Given the description of an element on the screen output the (x, y) to click on. 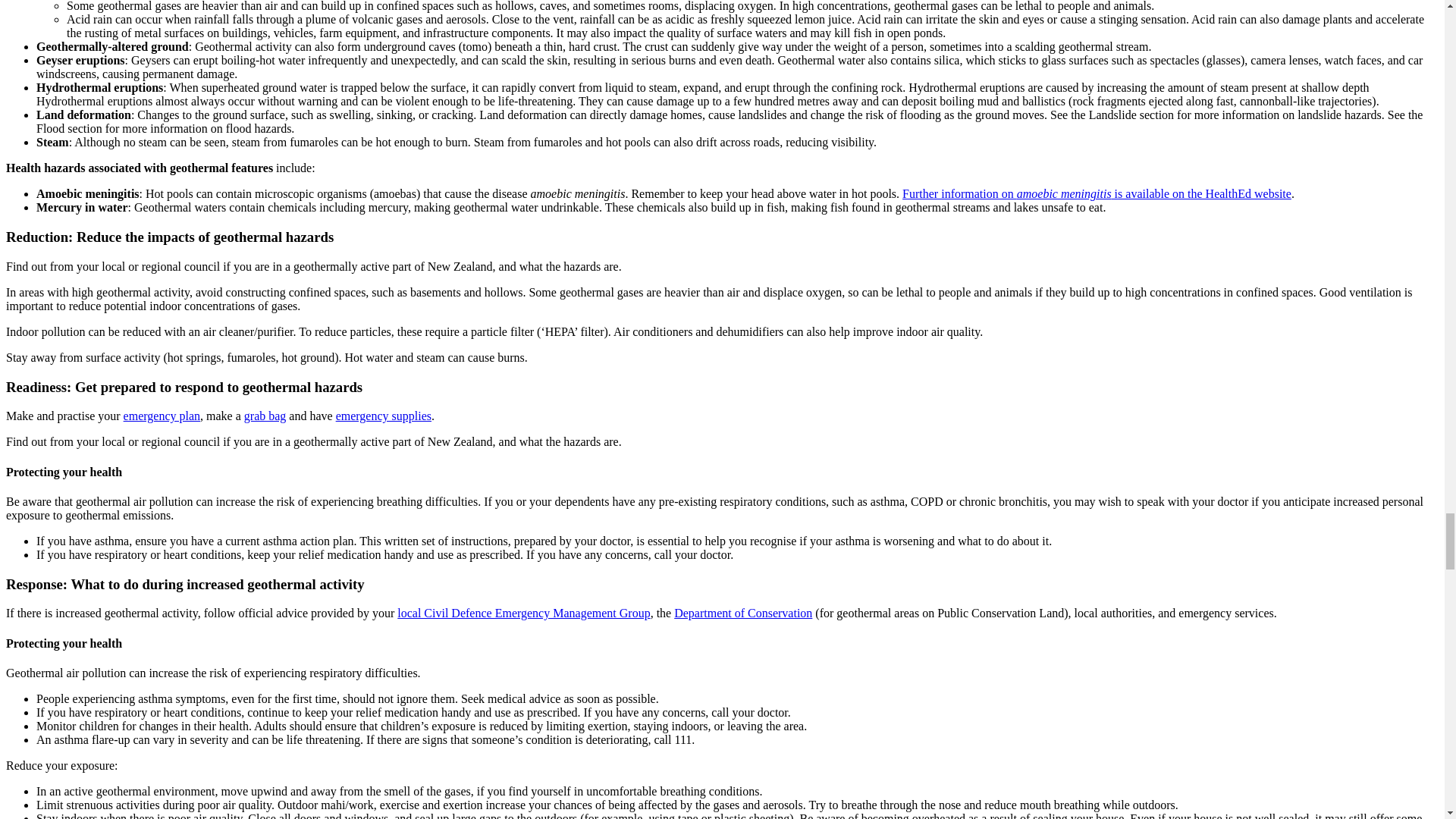
Consistent messages about having emergency supplies (383, 415)
Consistent messages about making emergency plans (161, 415)
Consistent messages about having a grab bag (265, 415)
Find your local Civil Defence Emergency Management Group (523, 612)
Visit the Department of Conservation website (743, 612)
Learn about amoebic meningitis (1096, 193)
